Given the description of an element on the screen output the (x, y) to click on. 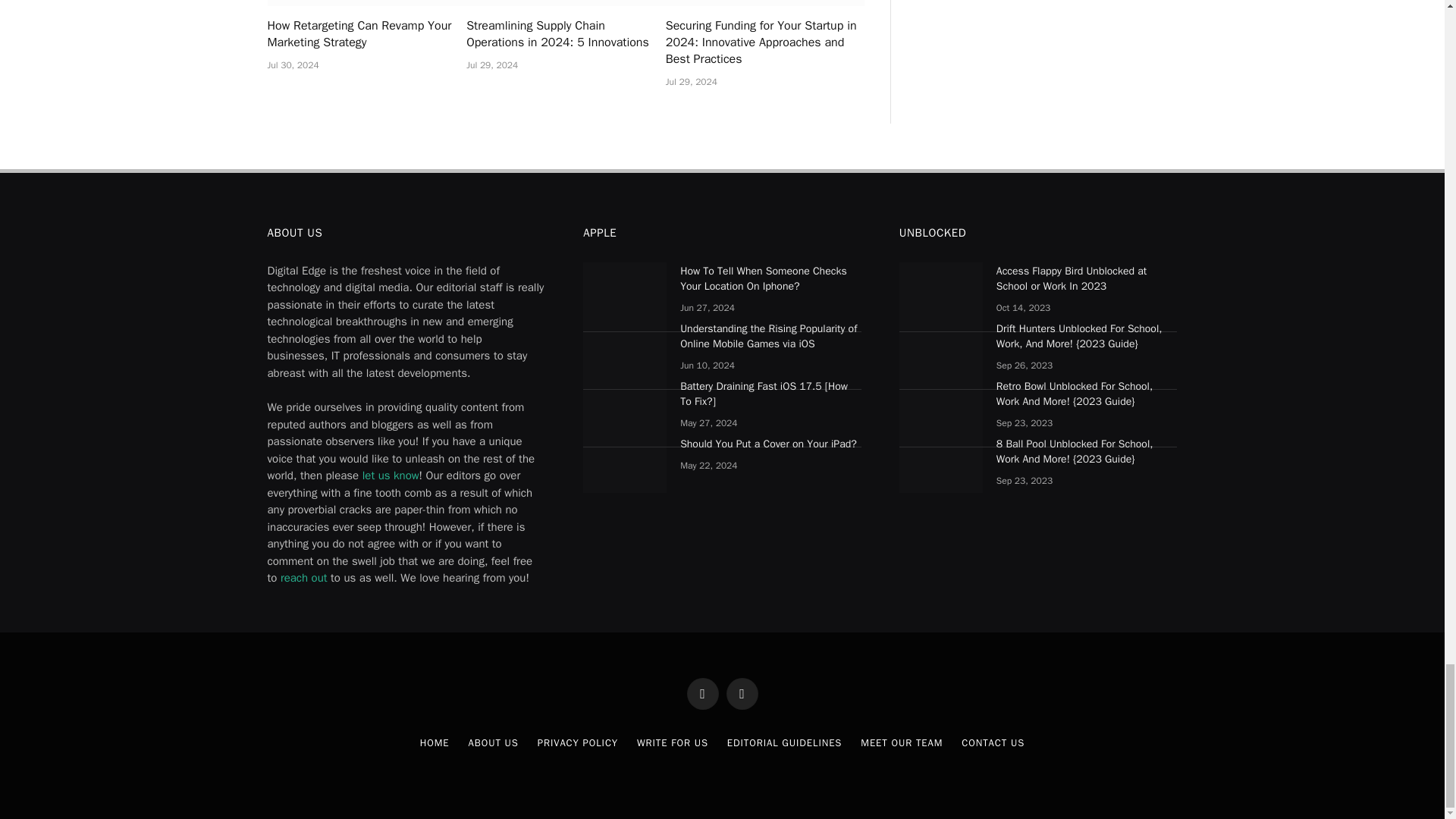
How Retargeting Can Revamp Your Marketing Strategy (365, 3)
Streamlining Supply Chain Operations in 2024: 5 Innovations (565, 3)
